Given the description of an element on the screen output the (x, y) to click on. 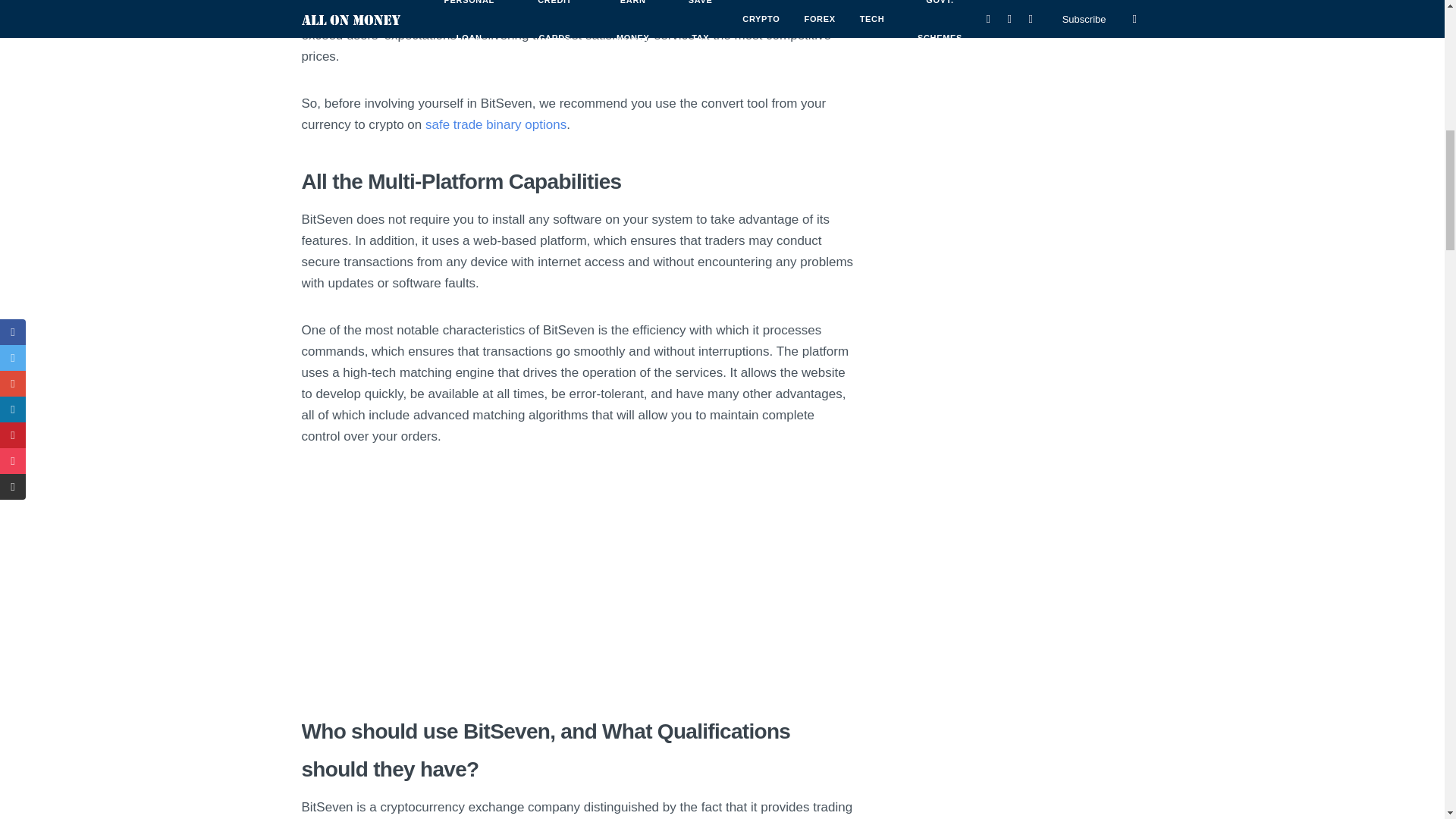
safe trade binary options (495, 124)
Advertisement (578, 579)
